Given the description of an element on the screen output the (x, y) to click on. 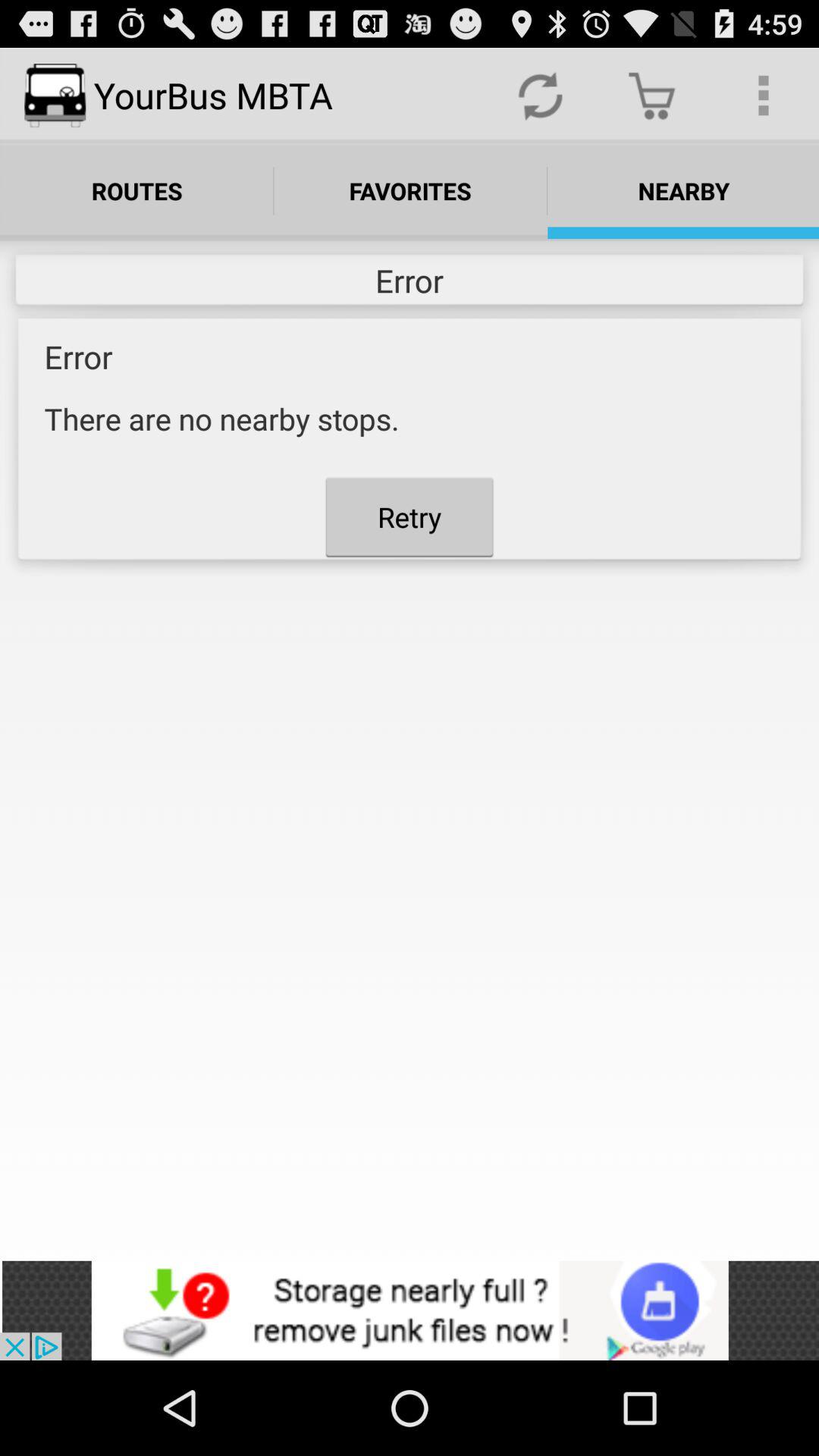
clean file option (409, 1310)
